Given the description of an element on the screen output the (x, y) to click on. 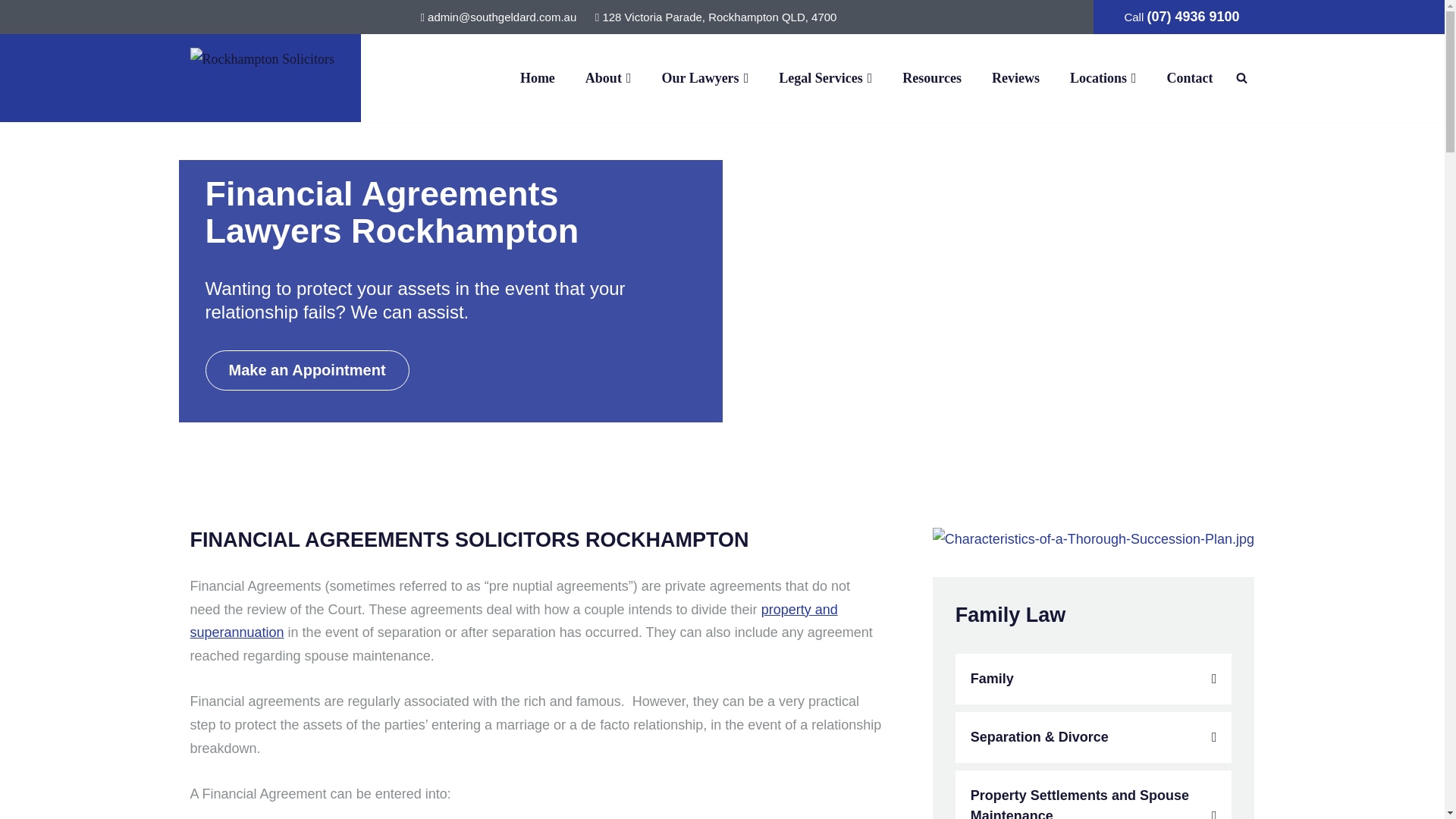
Resources (931, 78)
About (608, 78)
Locations (1102, 78)
Family-Law-CTA (1093, 539)
Legal Services (824, 78)
Our Lawyers (704, 78)
Reviews (1015, 78)
Skip to content (11, 31)
Contact (1189, 78)
